Given the description of an element on the screen output the (x, y) to click on. 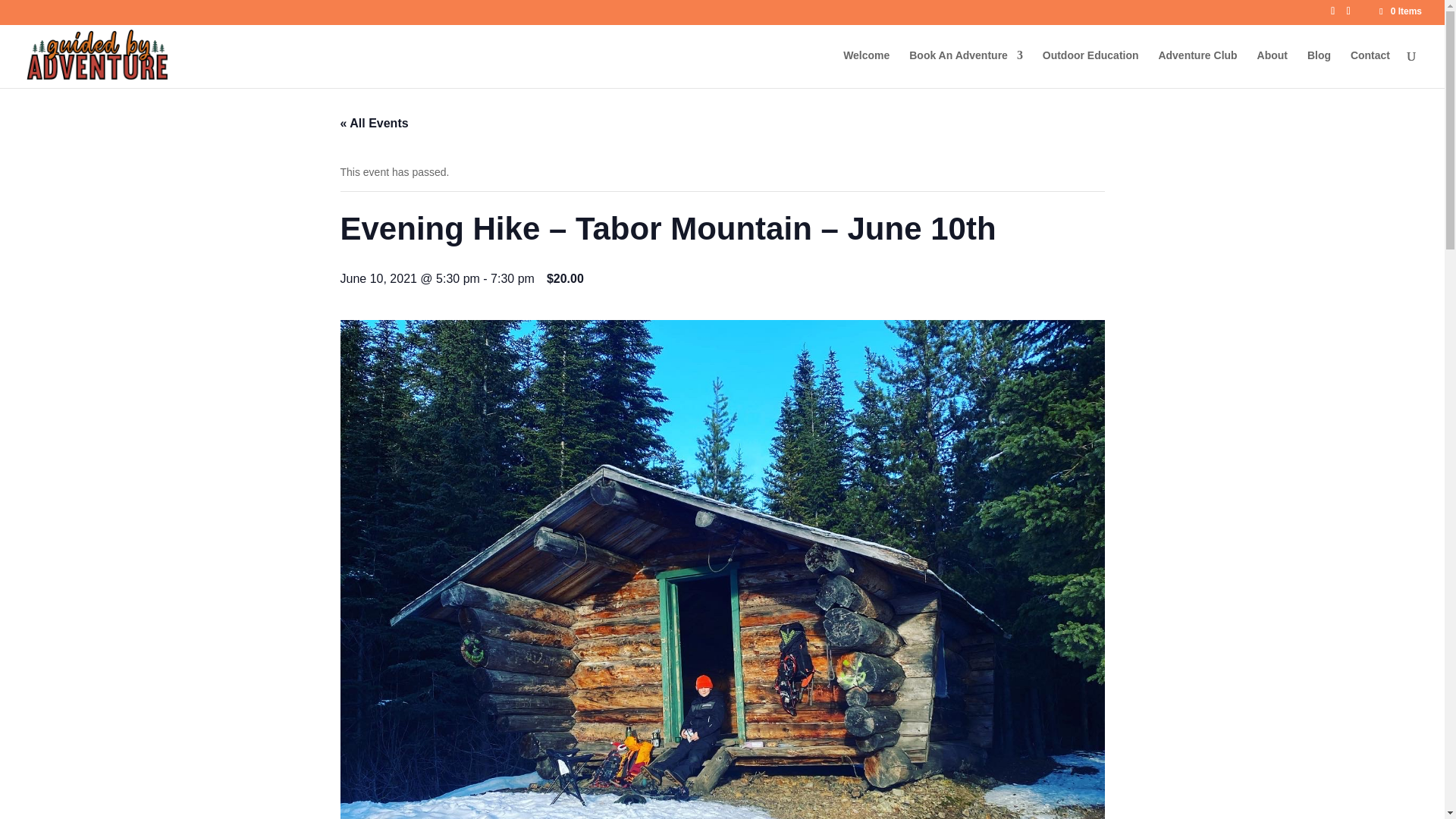
0 Items (1399, 10)
Contact (1370, 68)
Book An Adventure (965, 68)
Outdoor Education (1090, 68)
Adventure Club (1196, 68)
Welcome (866, 68)
